Given the description of an element on the screen output the (x, y) to click on. 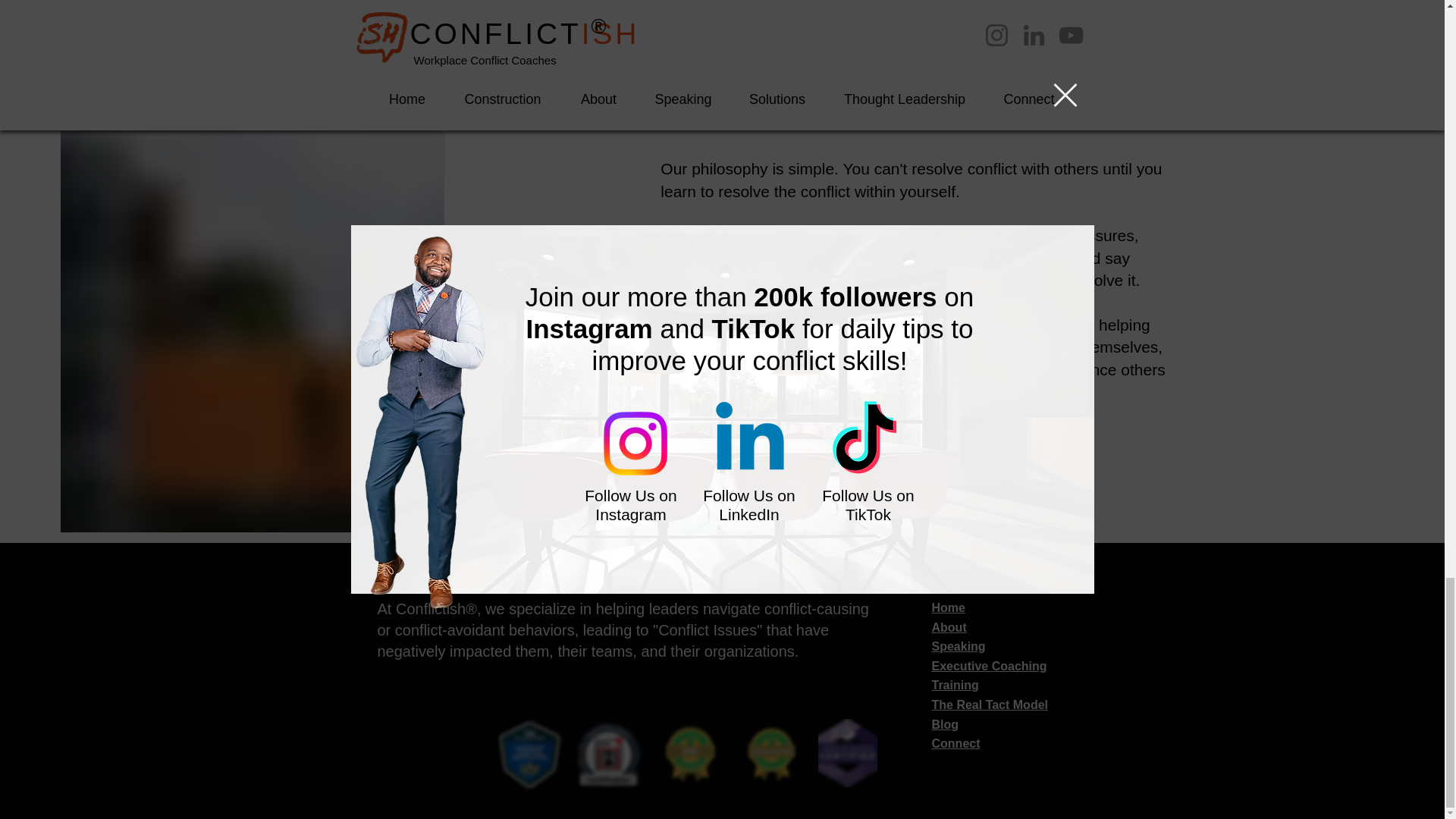
Connect With Us Today (912, 448)
Learn More (728, 6)
Speaking (958, 645)
About (948, 626)
Connect (955, 743)
Home (947, 607)
Sign Up! (932, 271)
Blog (944, 724)
Training (954, 684)
Executive Coaching (988, 666)
The Real Tact Model (989, 704)
